Given the description of an element on the screen output the (x, y) to click on. 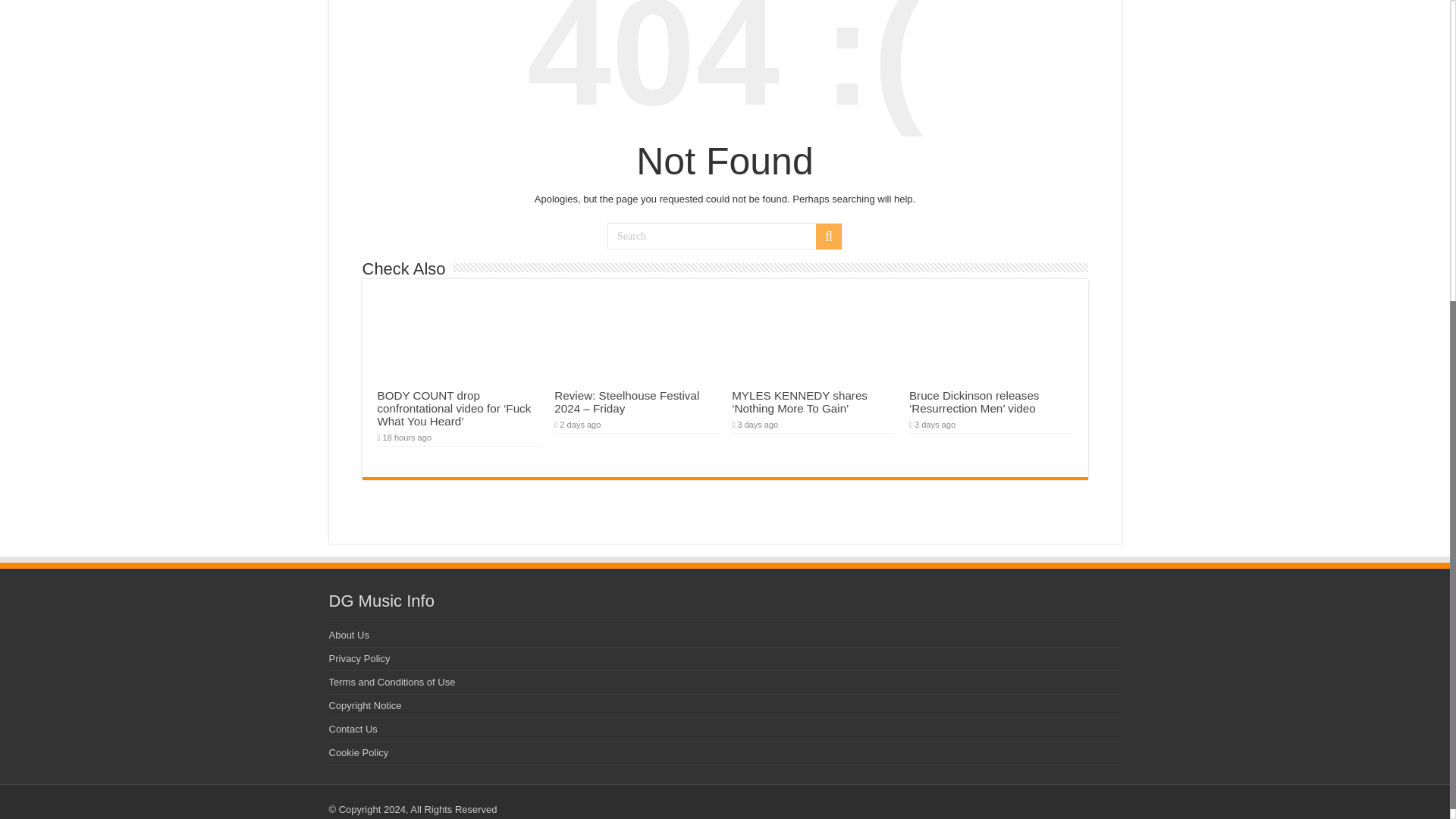
Search (828, 236)
Privacy Policy (359, 658)
Search (725, 235)
About Us (349, 634)
